Given the description of an element on the screen output the (x, y) to click on. 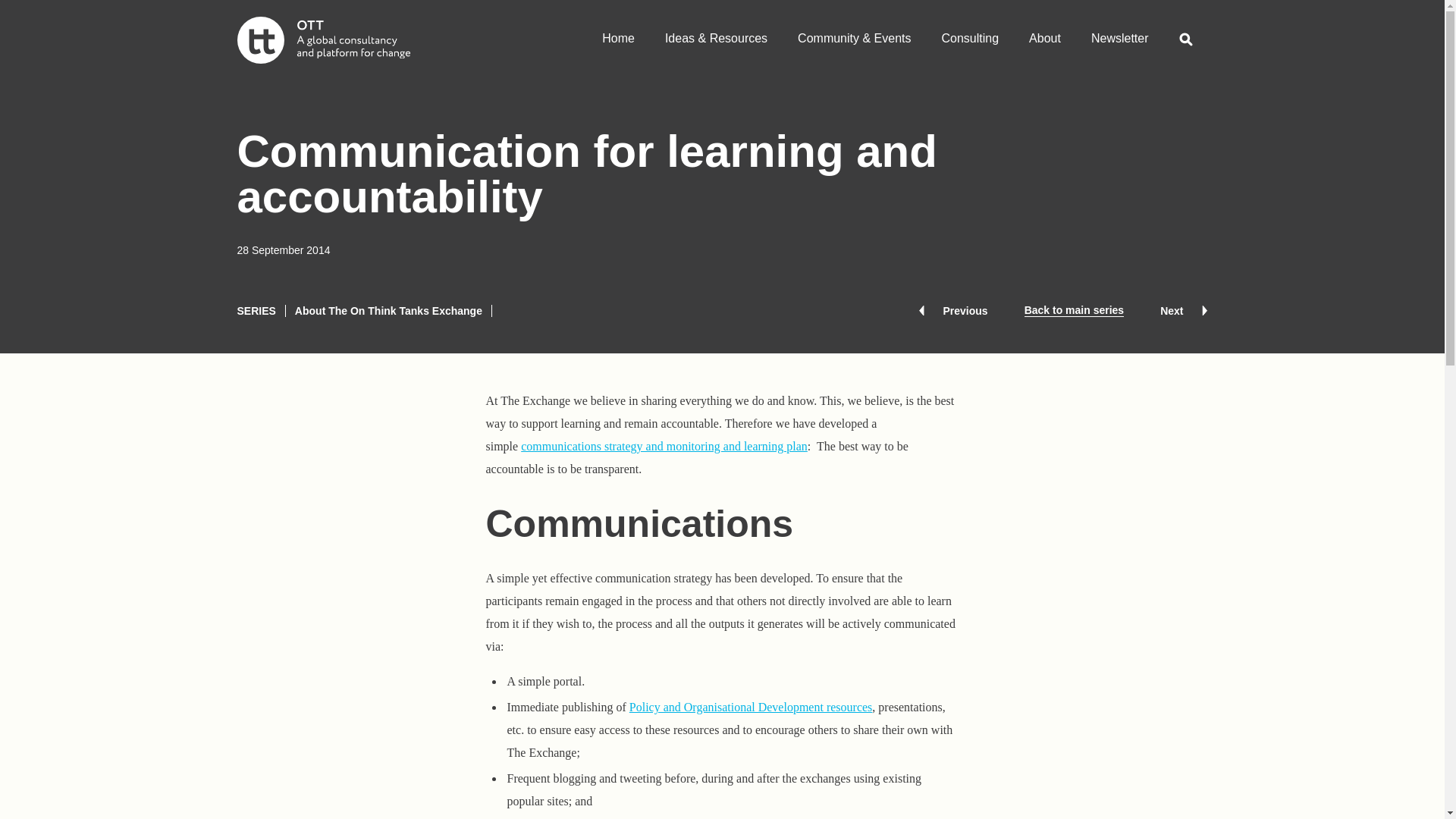
Go to the previous article in the series (952, 310)
Home (617, 33)
communications strategy and monitoring and learning plan (664, 445)
Policy and Organisational Development resources (750, 707)
Topic Pages (750, 707)
Newsletter (1119, 33)
Go to homepage (322, 39)
Consulting (970, 33)
Previous (952, 310)
About (664, 445)
Back to main series (1074, 310)
About (1044, 33)
Next (1183, 310)
Go to the next article in the series (1183, 310)
